Given the description of an element on the screen output the (x, y) to click on. 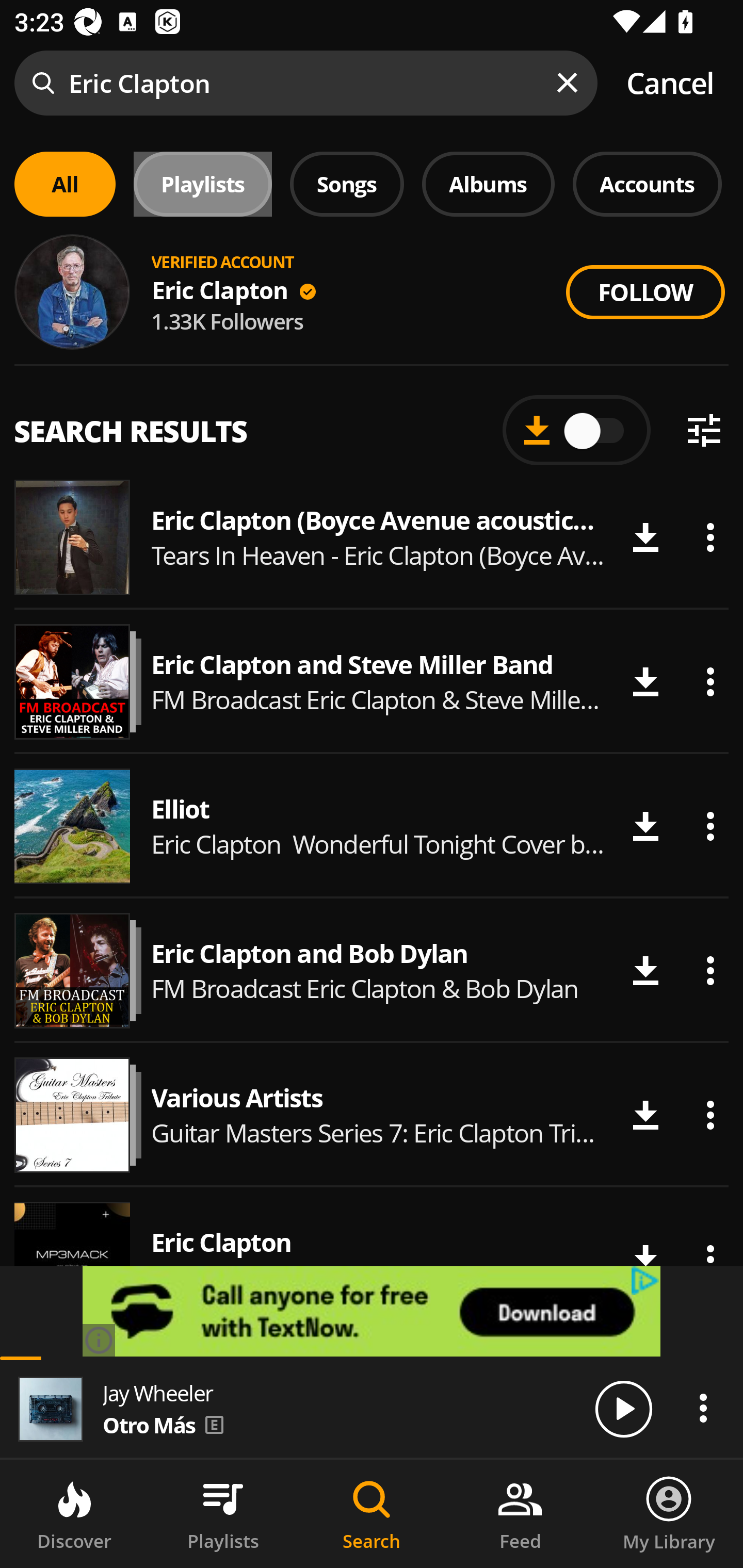
Eric Clapton Cancel (371, 82)
Cancel (670, 82)
All (64, 184)
Playlists (202, 184)
Songs (346, 184)
Albums (488, 184)
Accounts (647, 184)
FOLLOW Follow/Unfollow (645, 291)
Download (644, 536)
Actions (710, 536)
Download (644, 682)
Actions (710, 682)
Download (644, 826)
Actions (710, 826)
Download (644, 970)
Actions (710, 970)
Download (644, 1114)
Actions (710, 1114)
lrs4ozzi_yabxnjh_uresqf87ztinkg7v (371, 1311)
privacy (645, 1280)
Actions (703, 1407)
Play/Pause (623, 1408)
Discover (74, 1513)
Playlists (222, 1513)
Search (371, 1513)
Feed (519, 1513)
My Library (668, 1513)
